Given the description of an element on the screen output the (x, y) to click on. 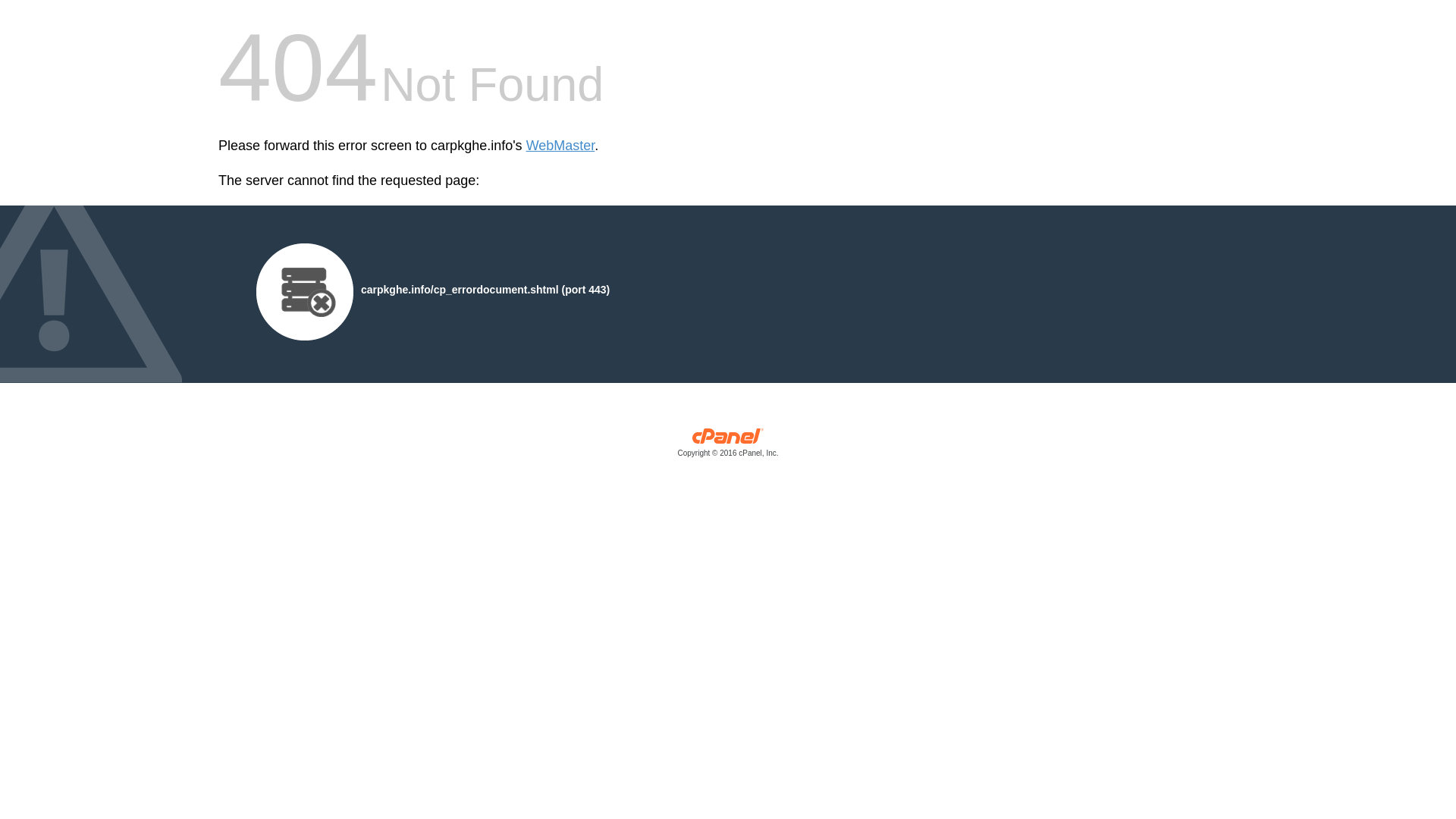
cPanel, Inc. (727, 446)
WebMaster (560, 145)
